Given the description of an element on the screen output the (x, y) to click on. 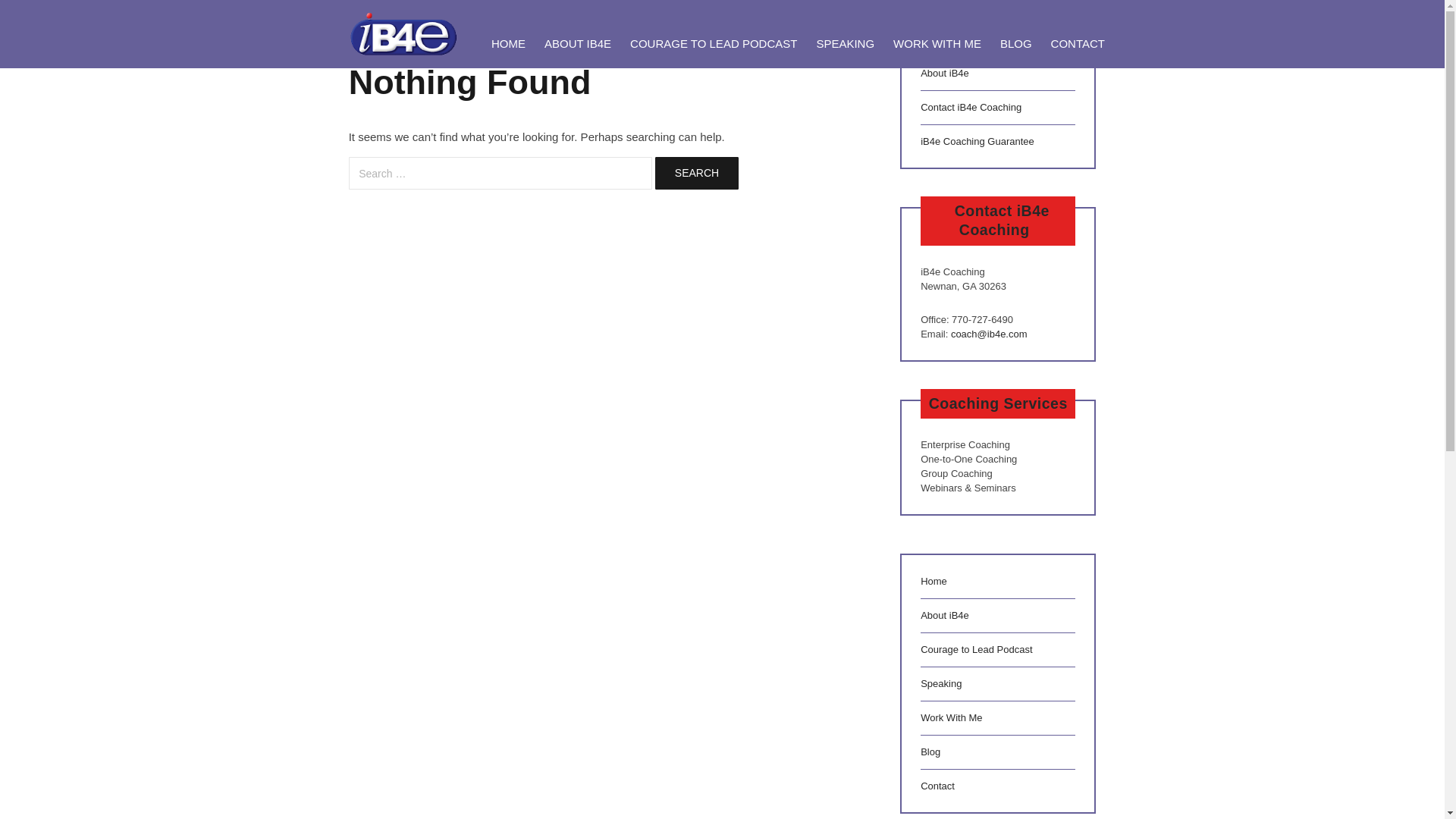
About iB4e (944, 72)
Blog (930, 751)
Contact (937, 785)
Speaking (940, 683)
iB4e Coaching Guarantee (976, 141)
About iB4e (944, 614)
Search (696, 173)
Search (696, 173)
ABOUT IB4E (577, 42)
Courage to Lead Podcast (976, 649)
BLOG (1015, 42)
Search (696, 173)
Contact iB4e Coaching (971, 107)
HOME (507, 42)
CONTACT (1077, 42)
